Given the description of an element on the screen output the (x, y) to click on. 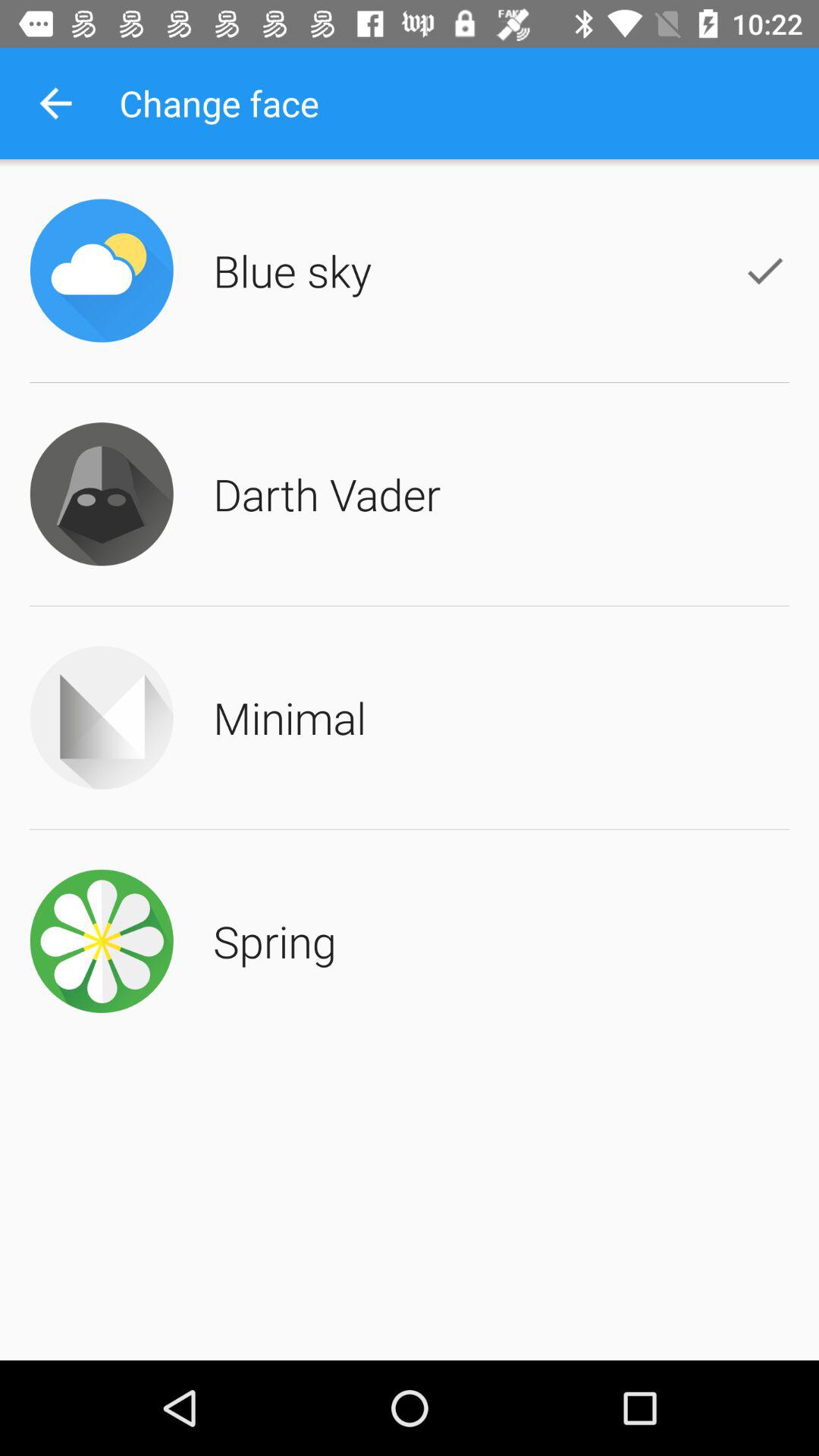
go back (55, 103)
